Given the description of an element on the screen output the (x, y) to click on. 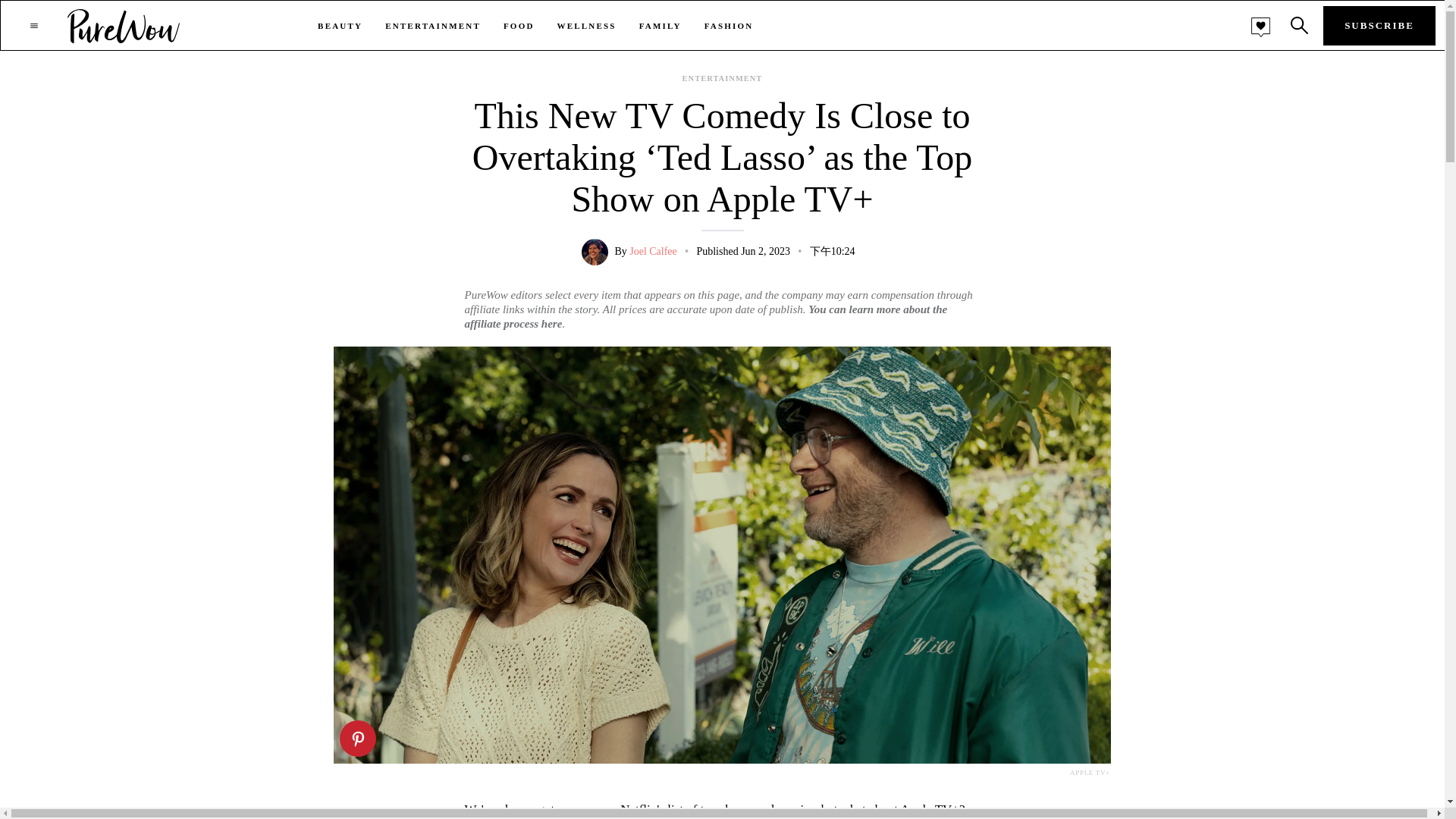
SUBSCRIBE (1379, 25)
PureWow (123, 25)
BEAUTY (339, 25)
WELLNESS (586, 25)
You can learn more about the affiliate process here (705, 316)
ENTERTAINMENT (432, 25)
FAMILY (660, 25)
FOOD (518, 25)
Joel Calfee (652, 251)
FASHION (729, 25)
